Given the description of an element on the screen output the (x, y) to click on. 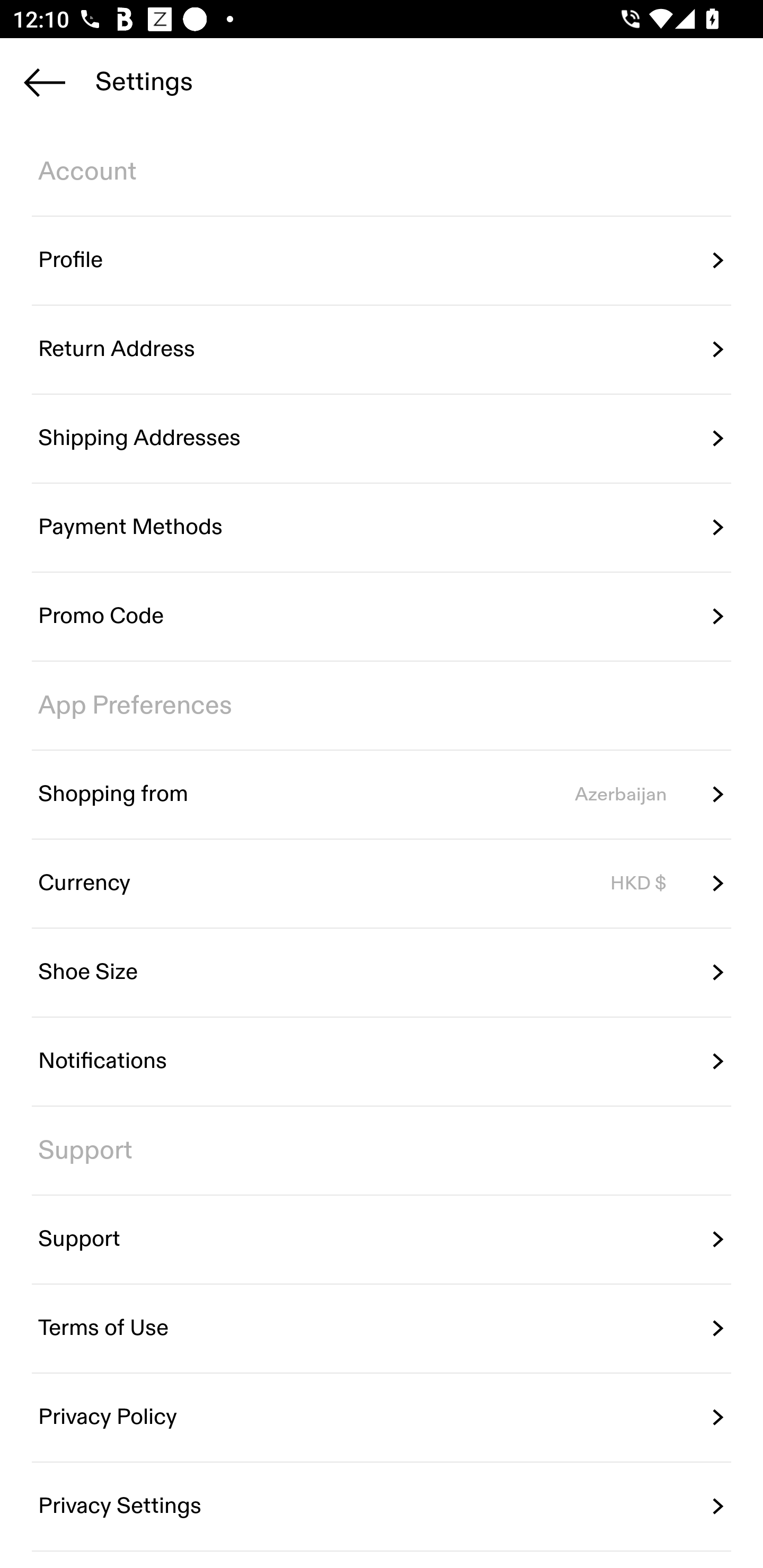
Navigate up (44, 82)
Profile (381, 260)
Return Address (381, 349)
Shipping Addresses (381, 437)
Payment Methods (381, 527)
Promo Code (381, 616)
Shopping from Azerbaijan (381, 793)
Currency HKD $ (381, 883)
Shoe Size (381, 972)
Notifications (381, 1061)
Support (381, 1239)
Terms of Use (381, 1328)
Privacy Policy (381, 1417)
Privacy Settings (381, 1505)
